Given the description of an element on the screen output the (x, y) to click on. 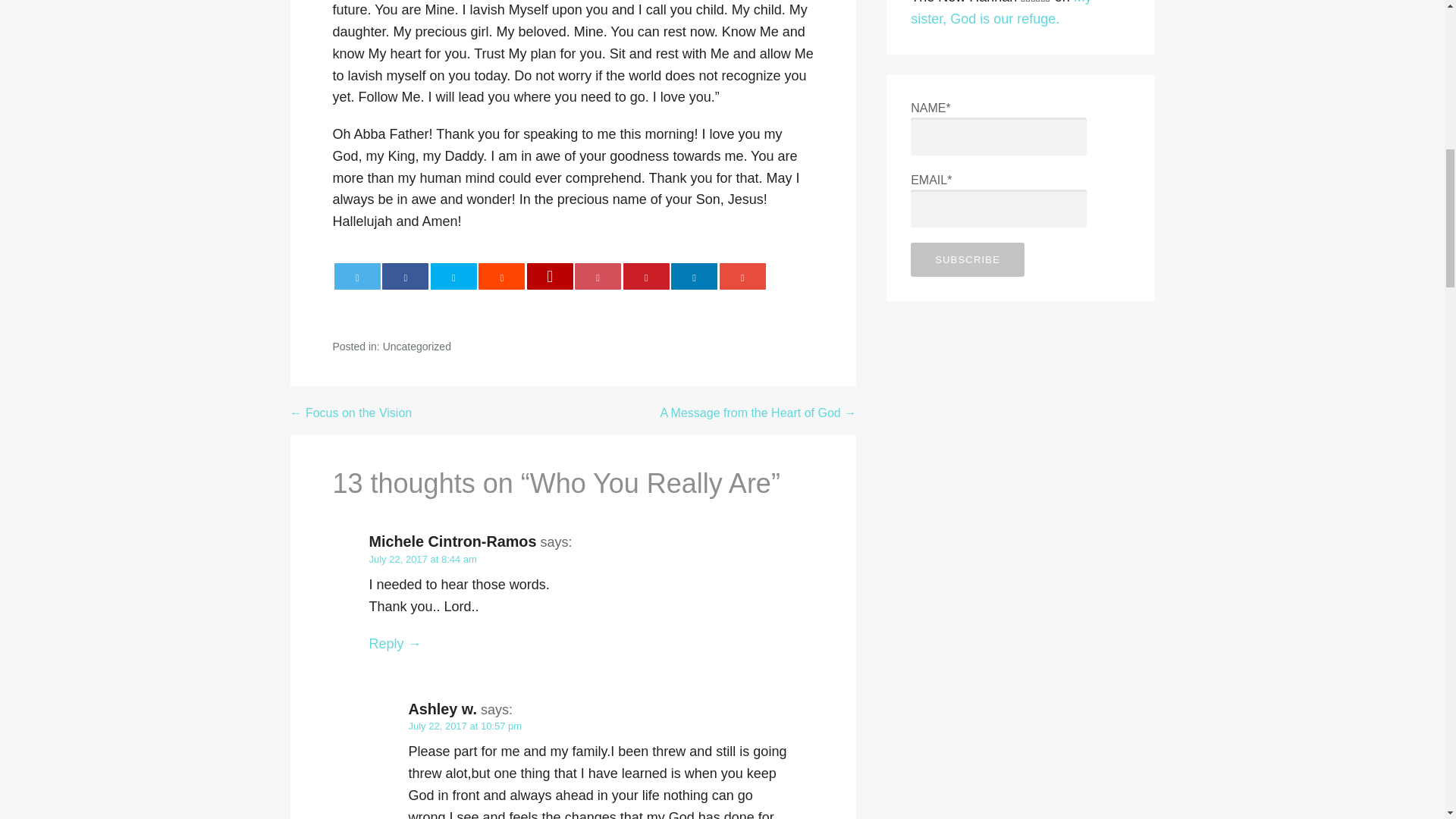
July 22, 2017 at 8:44 am (422, 559)
Share on Pinterest (646, 275)
July 22, 2017 at 10:57 pm (464, 726)
Share on Facebook (404, 275)
Reply (394, 643)
Share via mail (742, 275)
Subscribe (968, 259)
Save to read later on Pocket (598, 275)
Share on Linkedin (694, 275)
Submit to Reddit (501, 275)
Tweet on Twitter (357, 275)
Share on Skype (453, 275)
